Given the description of an element on the screen output the (x, y) to click on. 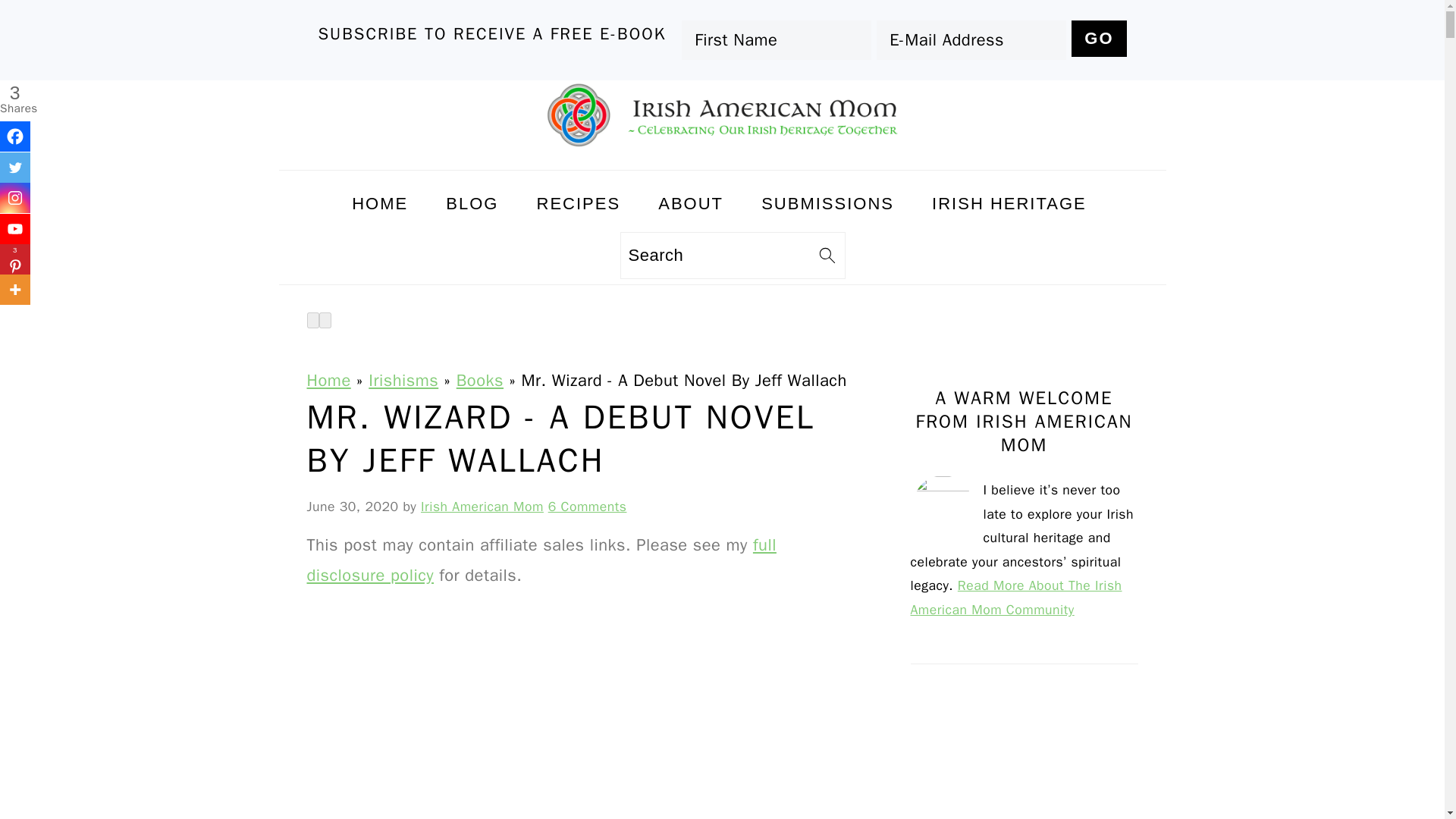
Books (480, 380)
Irish American Mom (721, 154)
Irish American Mom (481, 506)
ABOUT (690, 203)
SUBMISSIONS (827, 203)
IRISH HERITAGE (1008, 203)
RECIPES (579, 203)
HOME (379, 203)
Books (480, 380)
